Given the description of an element on the screen output the (x, y) to click on. 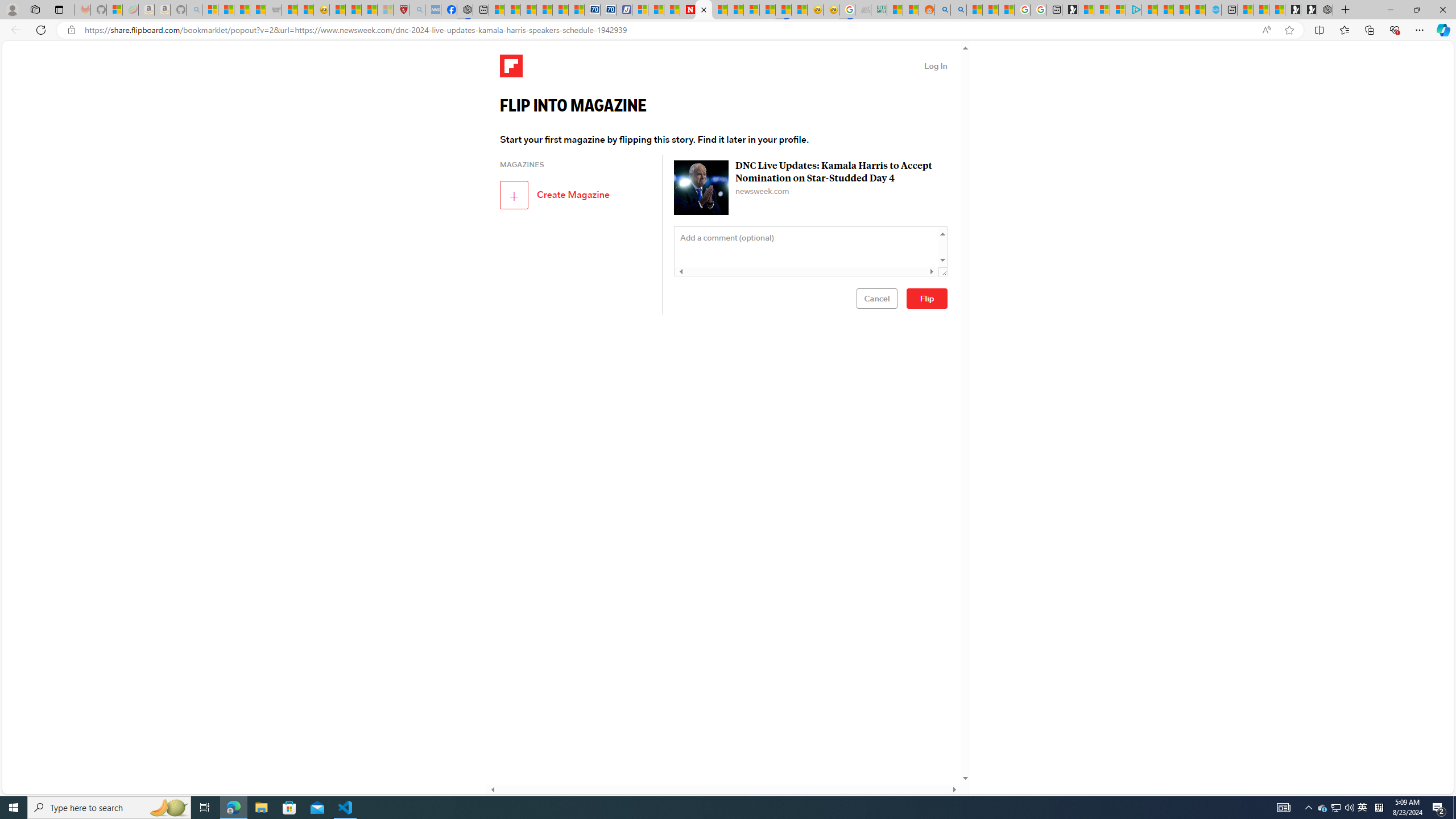
Microsoft account | Privacy (1118, 9)
Trusted Community Engagement and Contributions | Guidelines (735, 9)
Navy Quest (863, 9)
Cheap Hotels - Save70.com (608, 9)
MSN (783, 9)
